Given the description of an element on the screen output the (x, y) to click on. 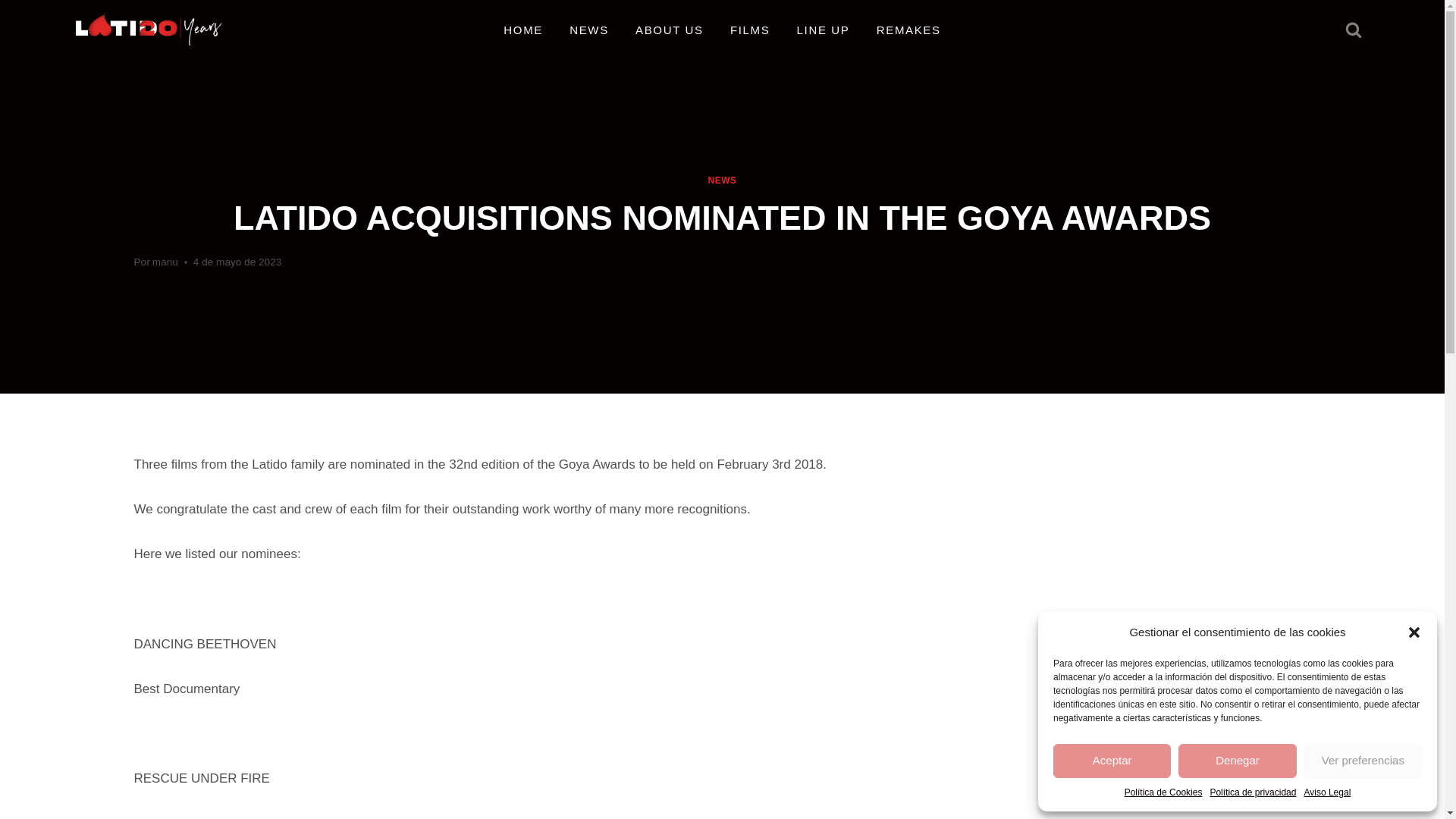
ABOUT US (668, 29)
Aviso Legal (1327, 792)
Denegar (1236, 760)
HOME (523, 29)
NEWS (721, 180)
LINE UP (823, 29)
FILMS (749, 29)
REMAKES (908, 29)
Ver preferencias (1363, 760)
Aceptar (1111, 760)
NEWS (589, 29)
manu (164, 261)
